Given the description of an element on the screen output the (x, y) to click on. 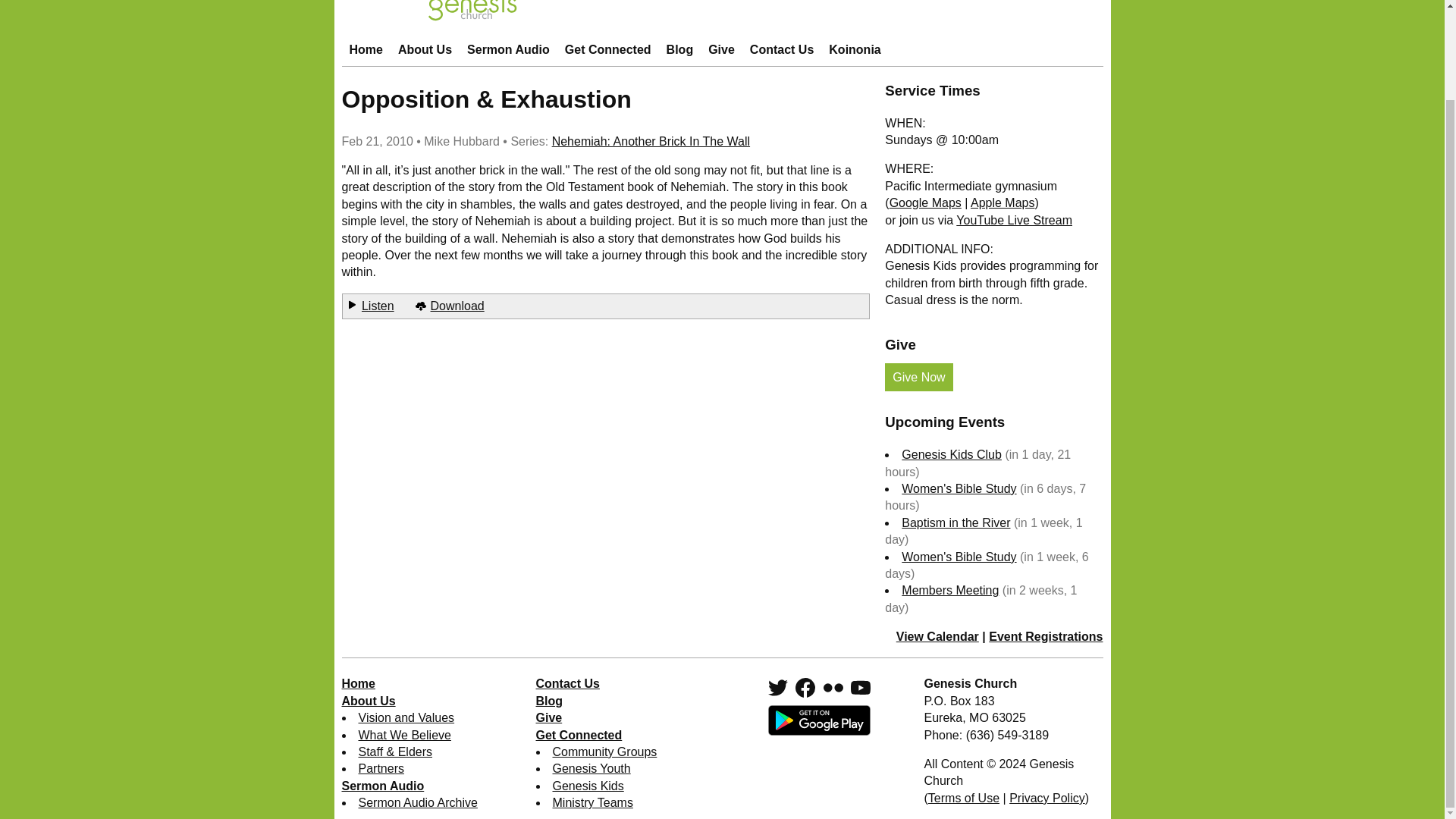
Apple Maps (1003, 202)
What We Believe (403, 735)
View Calendar (937, 635)
Genesis Church - A Place for New Beginnings (721, 16)
Get Connected (607, 49)
Download (457, 305)
Nehemiah: Another Brick In The Wall (650, 141)
Blog (680, 49)
Sermon Audio (508, 49)
Google Maps (924, 202)
Sermon Audio (508, 49)
Vision and Values (406, 717)
Give (721, 49)
Give Now (918, 377)
Genesis Church homepage (365, 49)
